Given the description of an element on the screen output the (x, y) to click on. 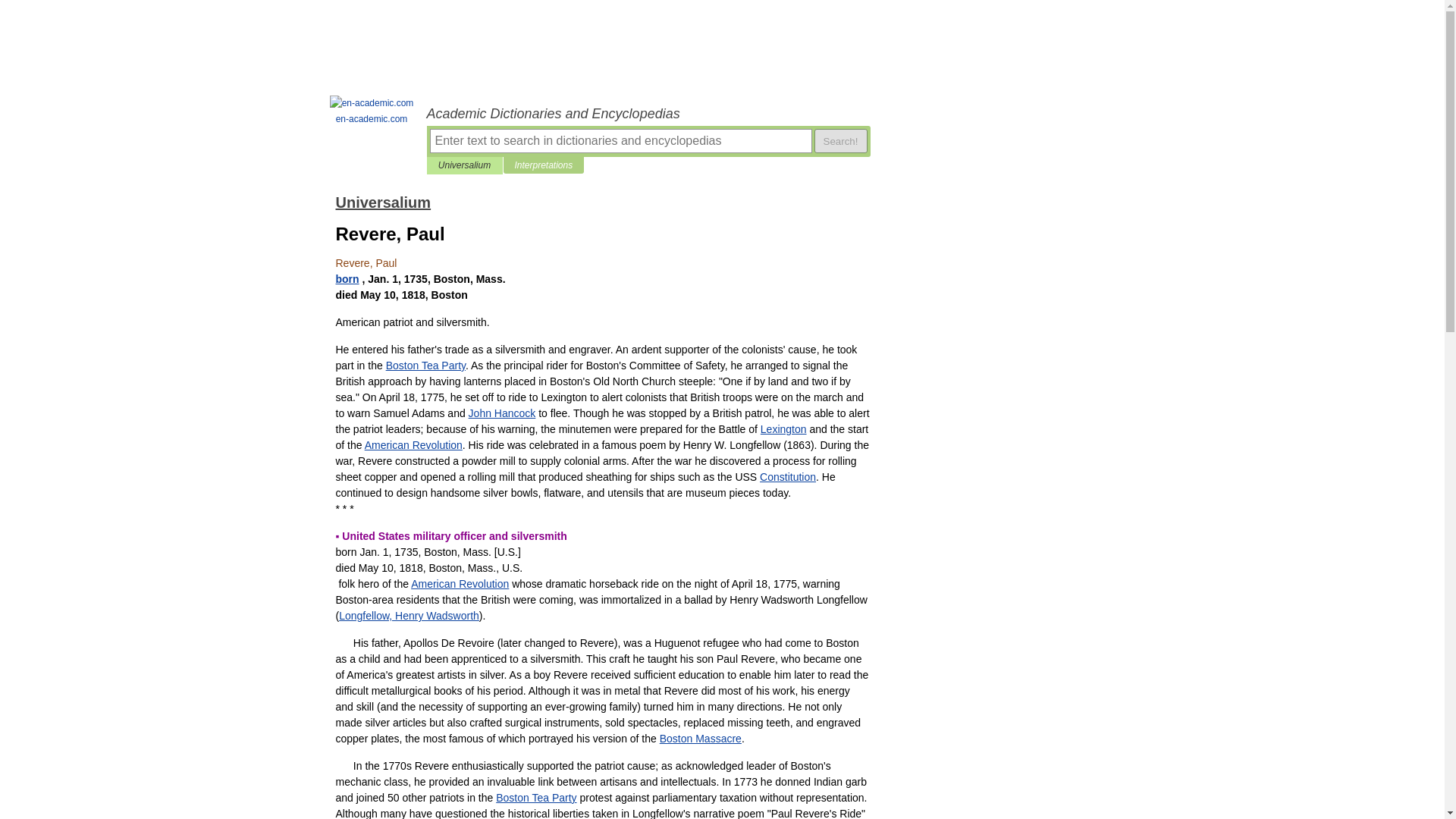
Longfellow, Henry Wadsworth (409, 615)
Academic Dictionaries and Encyclopedias (647, 114)
Enter text to search in dictionaries and encyclopedias (619, 140)
Boston Tea Party (425, 365)
Interpretations (542, 165)
American Revolution (414, 444)
American Revolution (459, 583)
Universalium (382, 202)
born (346, 278)
Boston Tea Party (536, 797)
Constitution (787, 476)
Lexington (783, 428)
Boston Massacre (700, 738)
Universalium (465, 165)
John Hancock (501, 413)
